Given the description of an element on the screen output the (x, y) to click on. 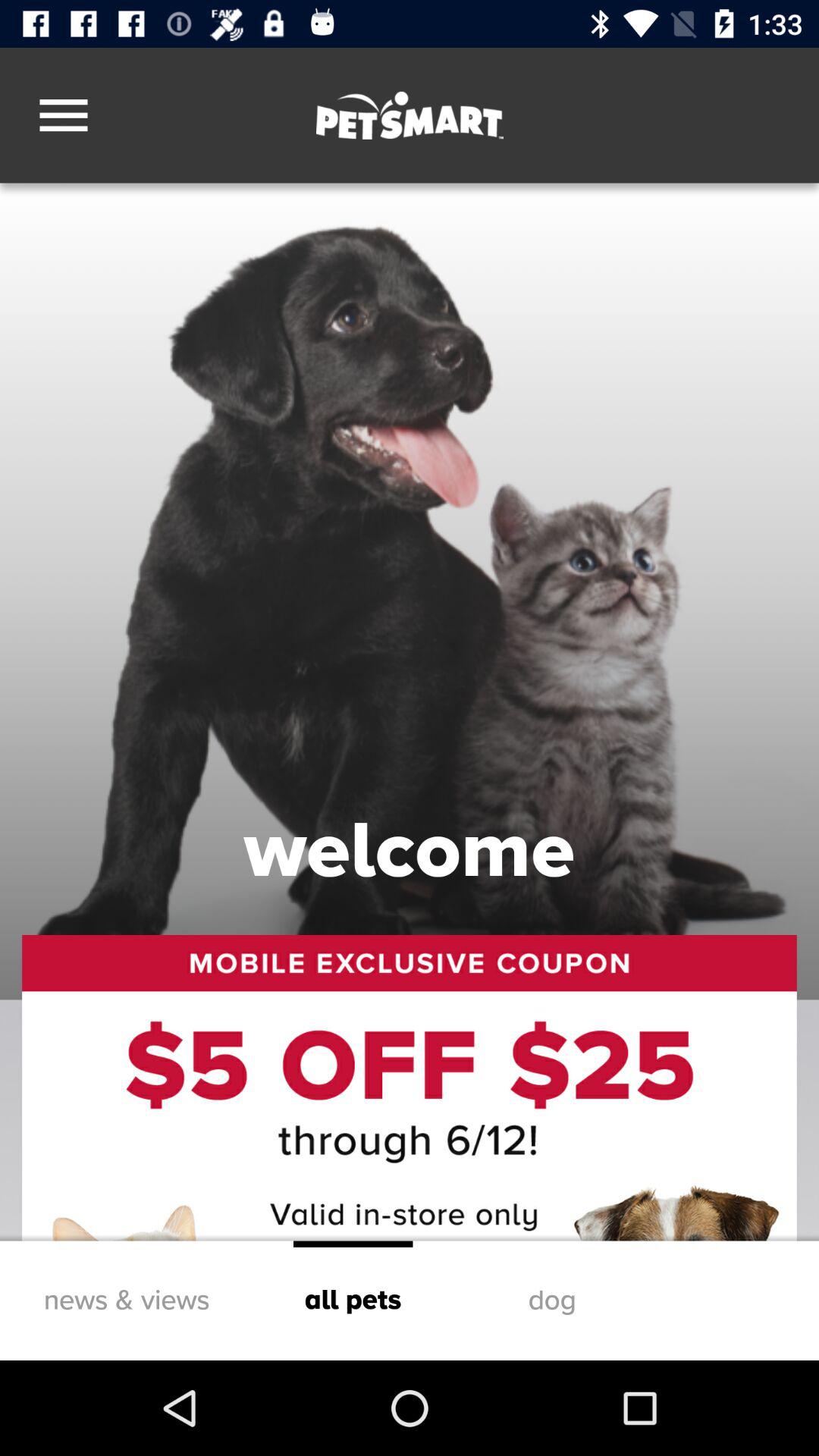
turn on icon at the bottom left corner (126, 1300)
